Given the description of an element on the screen output the (x, y) to click on. 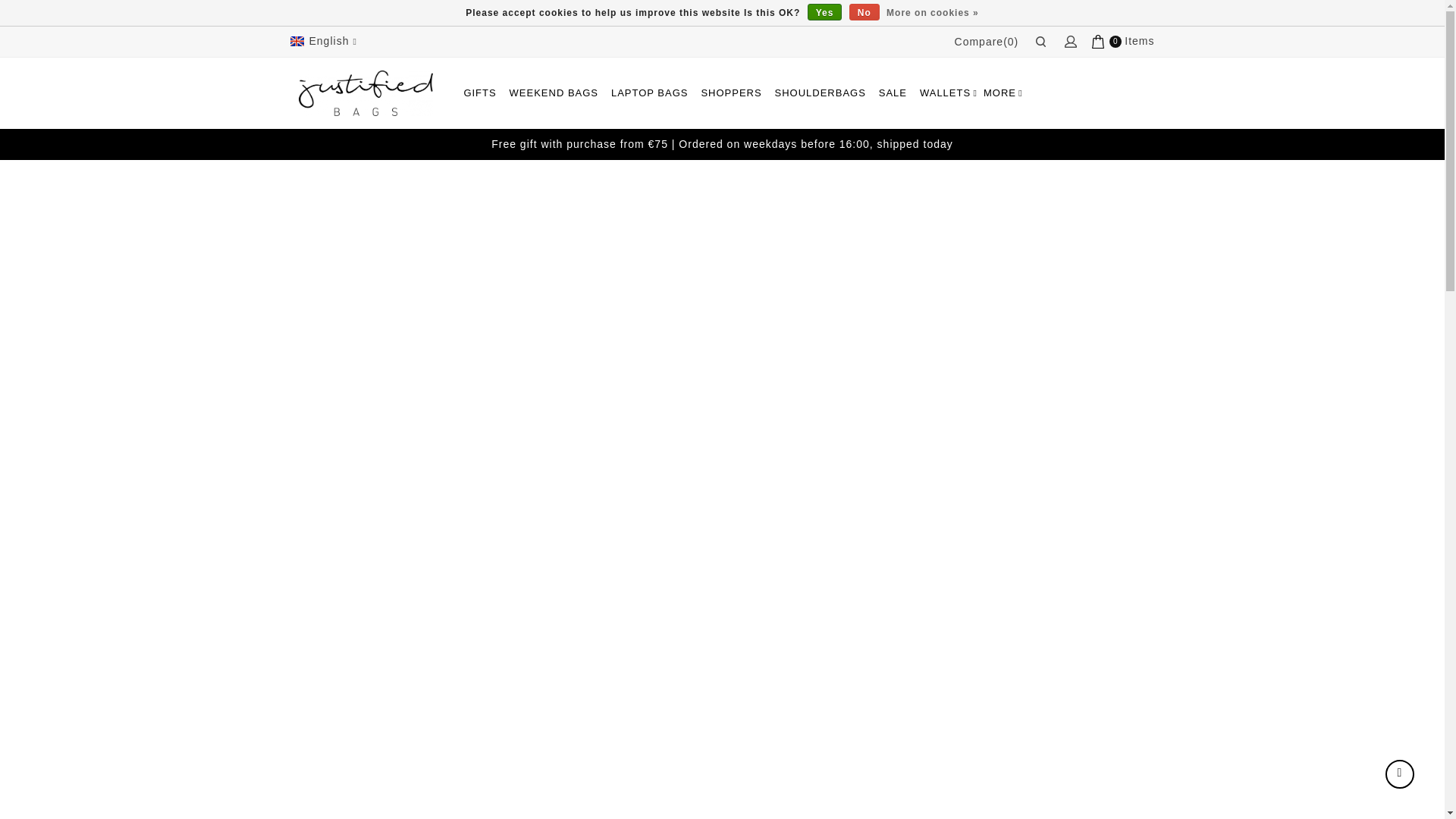
MORE (999, 93)
Sale (893, 93)
English (324, 41)
WEEKEND BAGS (553, 93)
Shoulderbags (820, 93)
WALLETS (945, 93)
SHOULDERBAGS (820, 93)
GIFTS (479, 93)
Shoppers (730, 93)
Be Yourself, Be Justified (365, 93)
LAPTOP BAGS (650, 93)
Laptop bags (650, 93)
Weekend Bags (553, 93)
Compare (987, 41)
Wallets (945, 93)
